Given the description of an element on the screen output the (x, y) to click on. 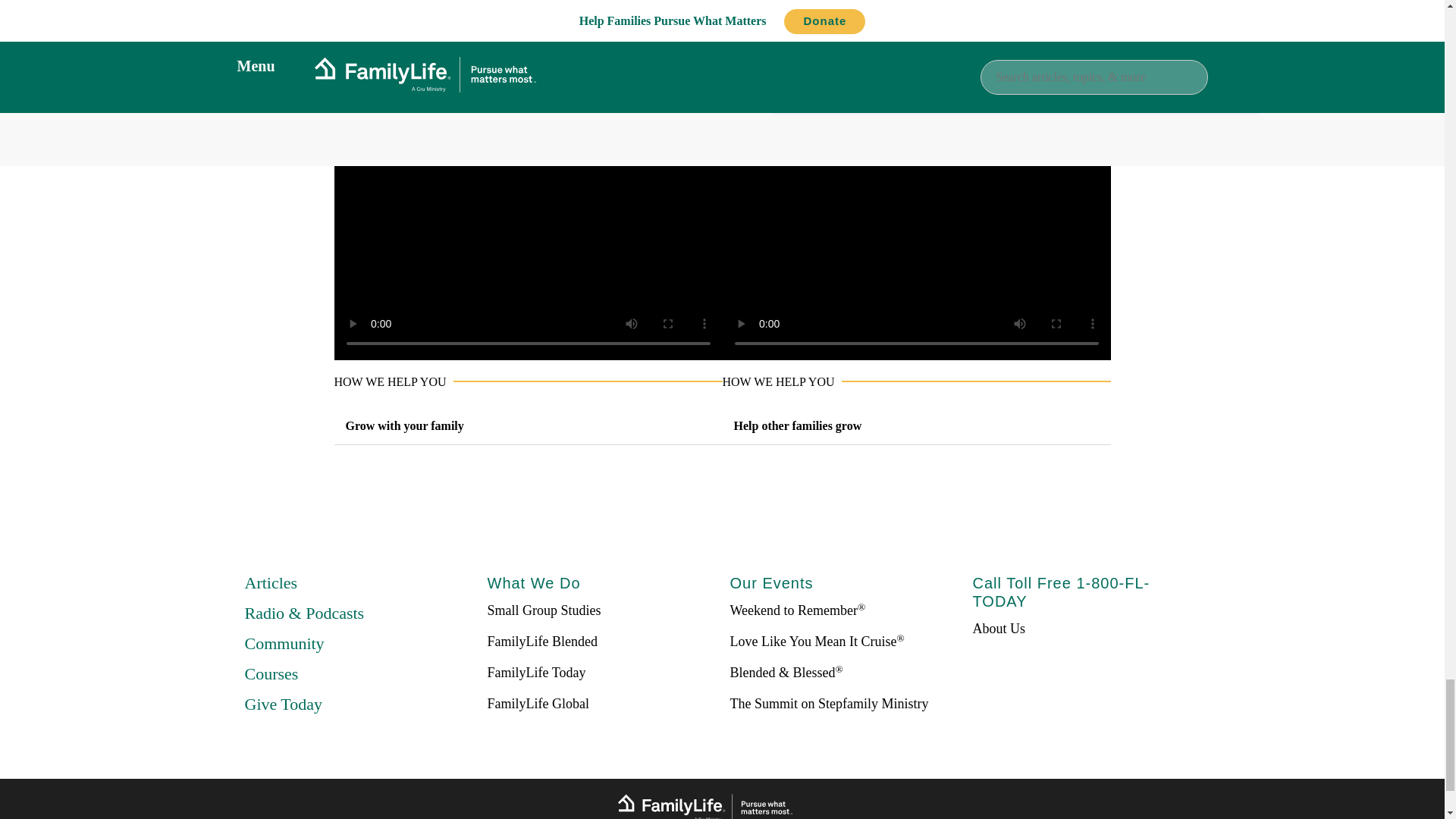
About Us (998, 628)
FamilyLife Blended (541, 641)
FamilyLife Today (535, 672)
0 (1036, 70)
Grow with your family (412, 425)
The Summit on Stepfamily Ministry (828, 703)
Articles (270, 582)
Small Group Studies (542, 610)
FamilyLife Global (537, 703)
Give Today (282, 703)
